Given the description of an element on the screen output the (x, y) to click on. 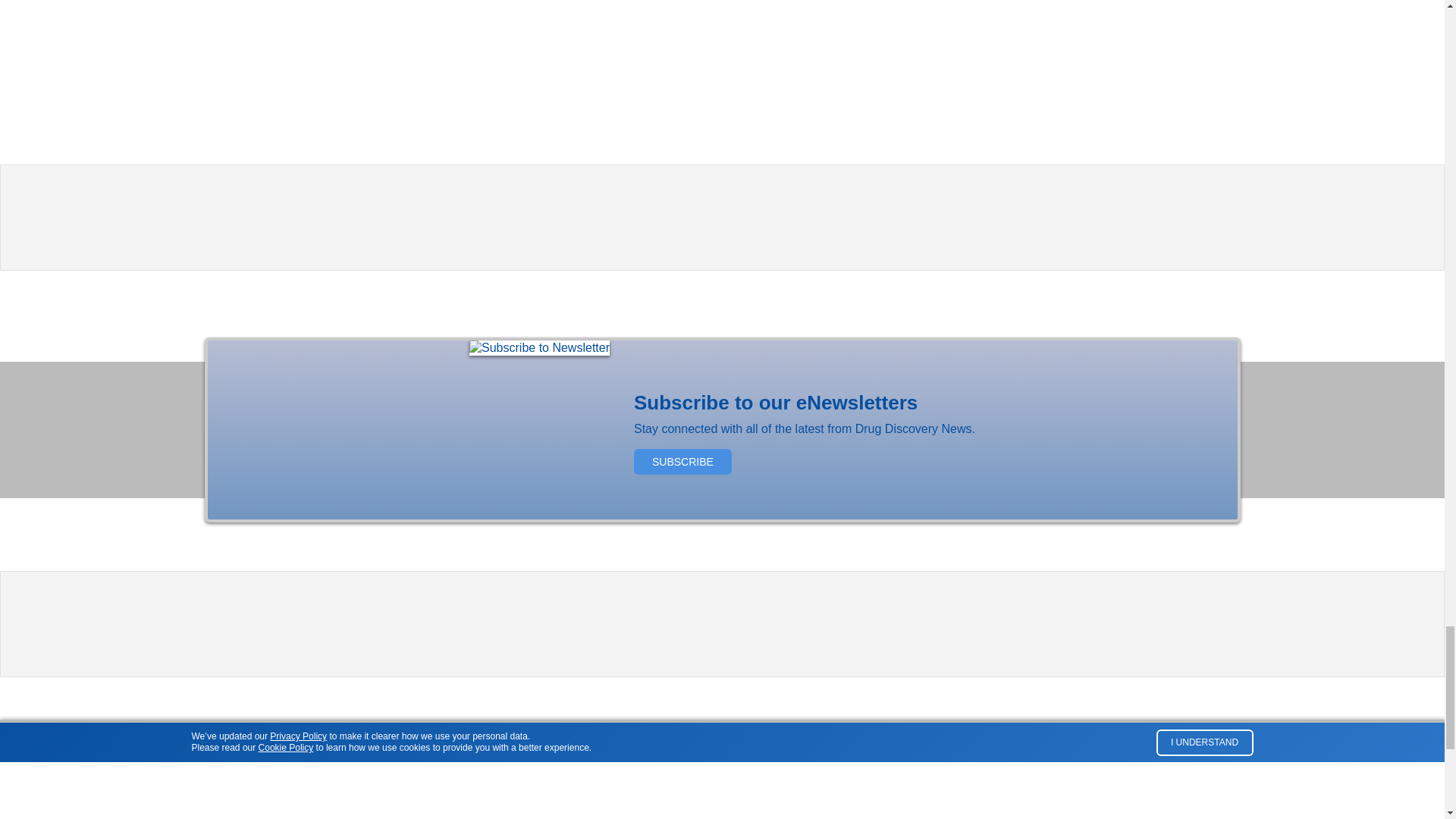
Subscribe to Newsletter (539, 347)
